Given the description of an element on the screen output the (x, y) to click on. 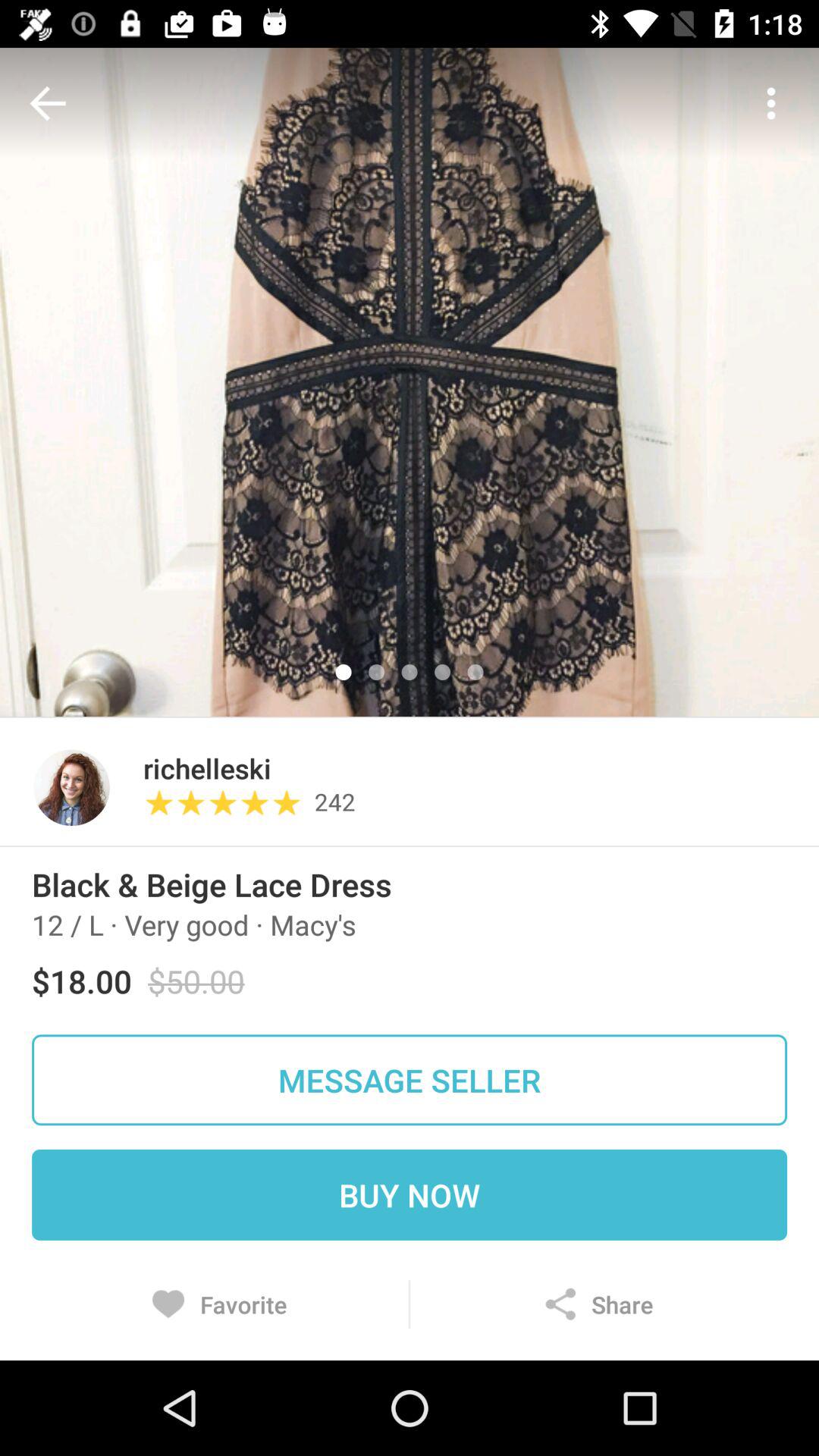
tap the item at the top left corner (51, 102)
